Given the description of an element on the screen output the (x, y) to click on. 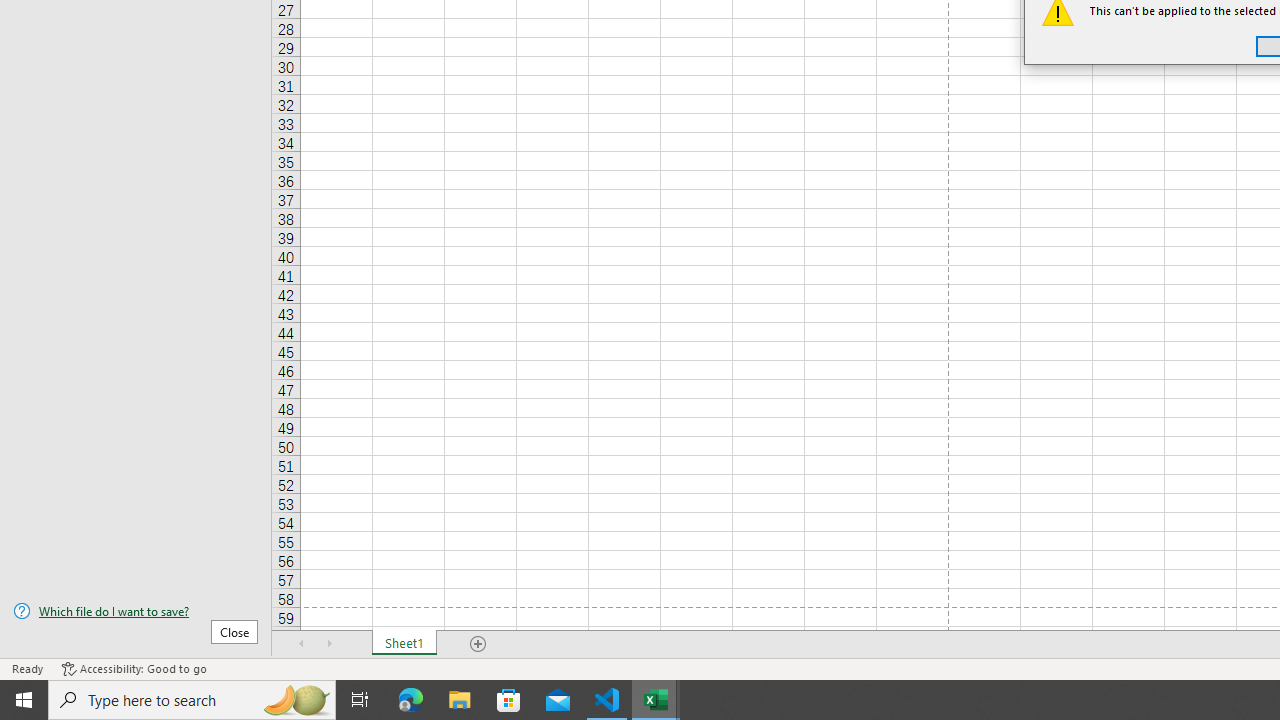
Start (24, 699)
Microsoft Store (509, 699)
Scroll Right (330, 644)
Task View (359, 699)
Microsoft Edge (411, 699)
Excel - 2 running windows (656, 699)
Type here to search (191, 699)
Add Sheet (478, 644)
File Explorer (460, 699)
Visual Studio Code - 1 running window (607, 699)
Search highlights icon opens search home window (295, 699)
Which file do I want to save? (136, 611)
Sheet1 (404, 644)
Scroll Left (302, 644)
